Given the description of an element on the screen output the (x, y) to click on. 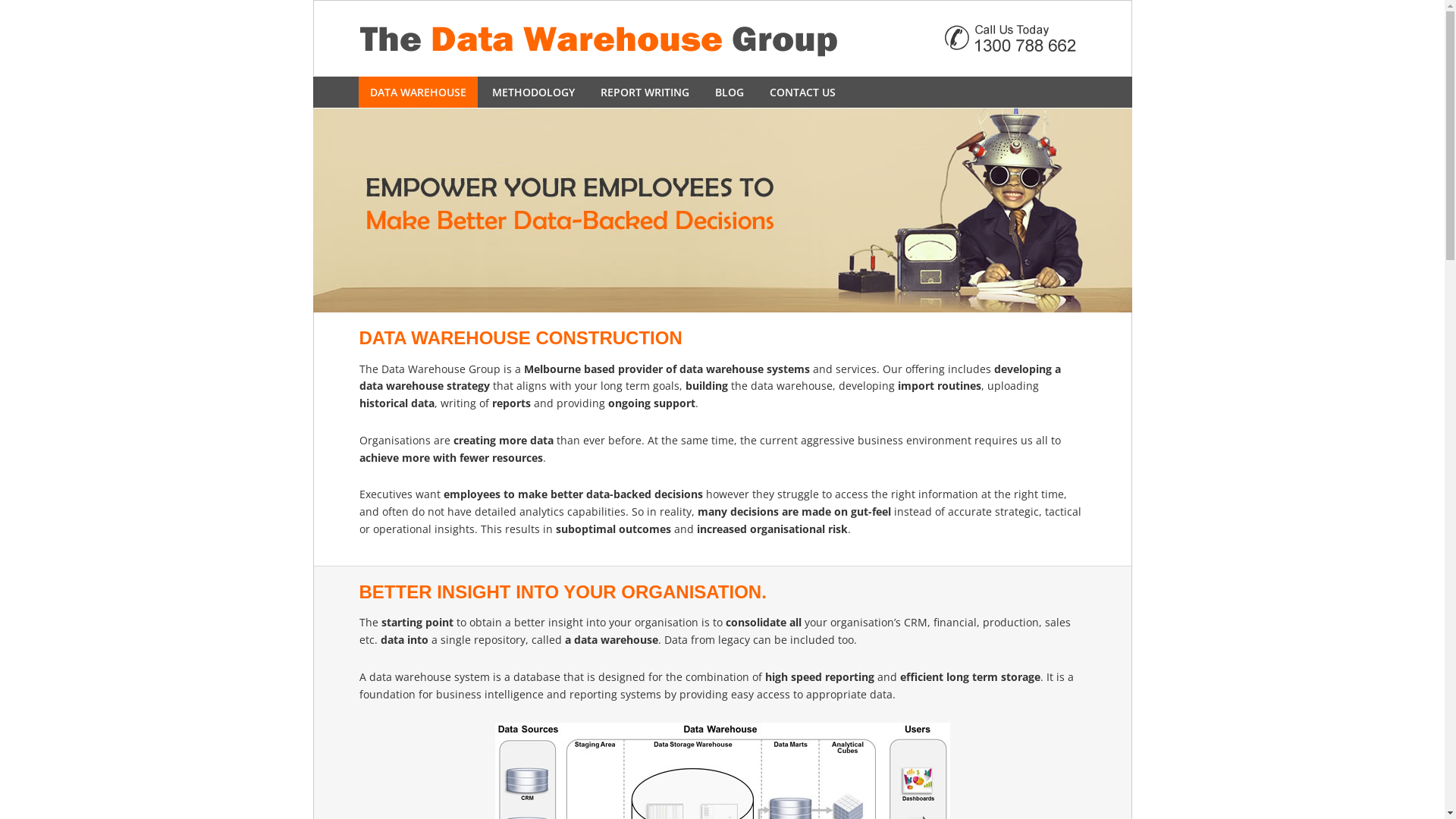
CONTACT US Element type: text (802, 91)
METHODOLOGY Element type: text (533, 91)
REPORT WRITING Element type: text (643, 91)
The Data Warehouse Group Element type: hover (721, 37)
DATA WAREHOUSE Element type: text (416, 91)
BLOG Element type: text (729, 91)
